Given the description of an element on the screen output the (x, y) to click on. 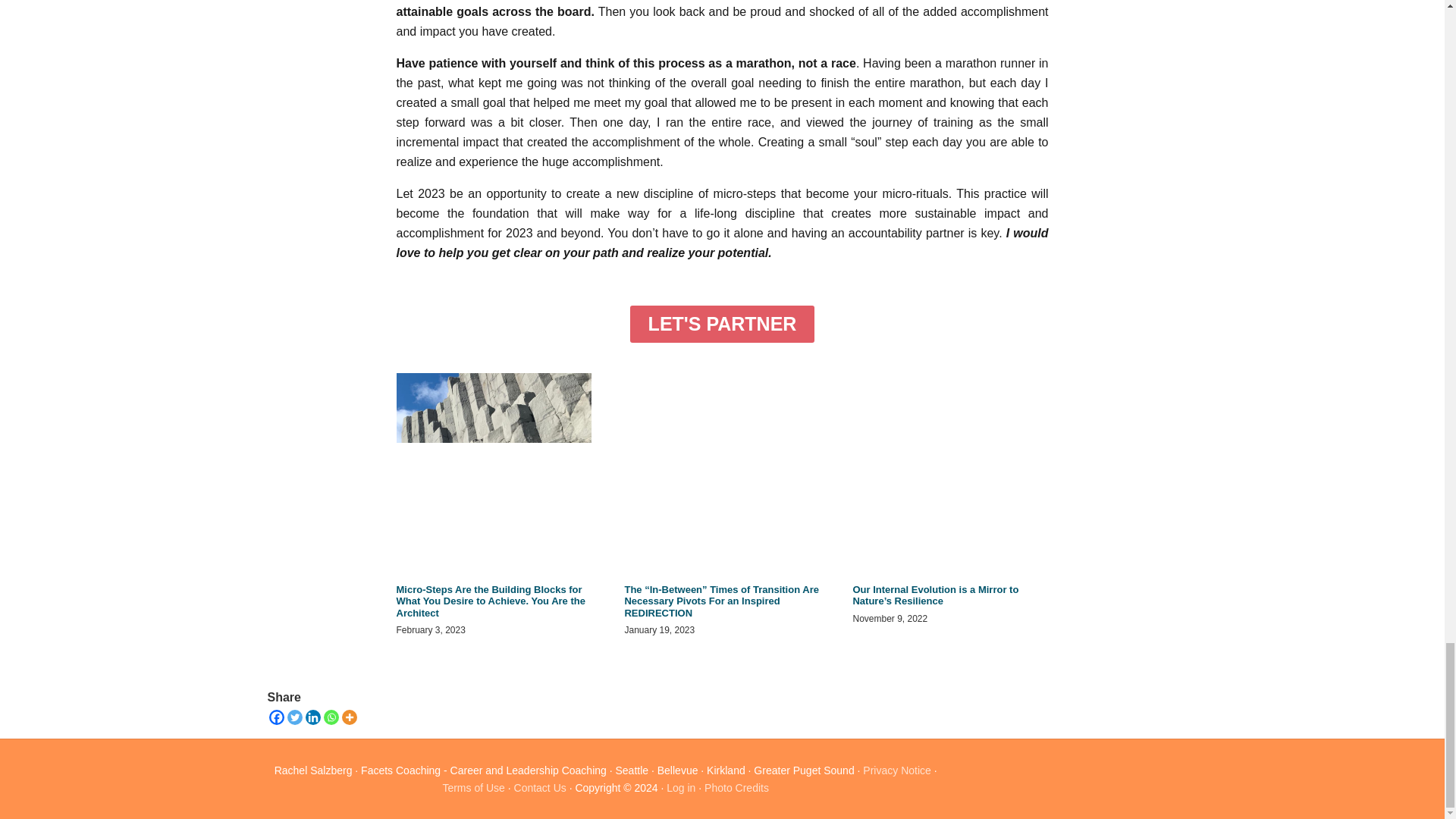
Whatsapp (330, 717)
Twitter (293, 717)
More (348, 717)
Linkedin (312, 717)
Facebook (275, 717)
